Given the description of an element on the screen output the (x, y) to click on. 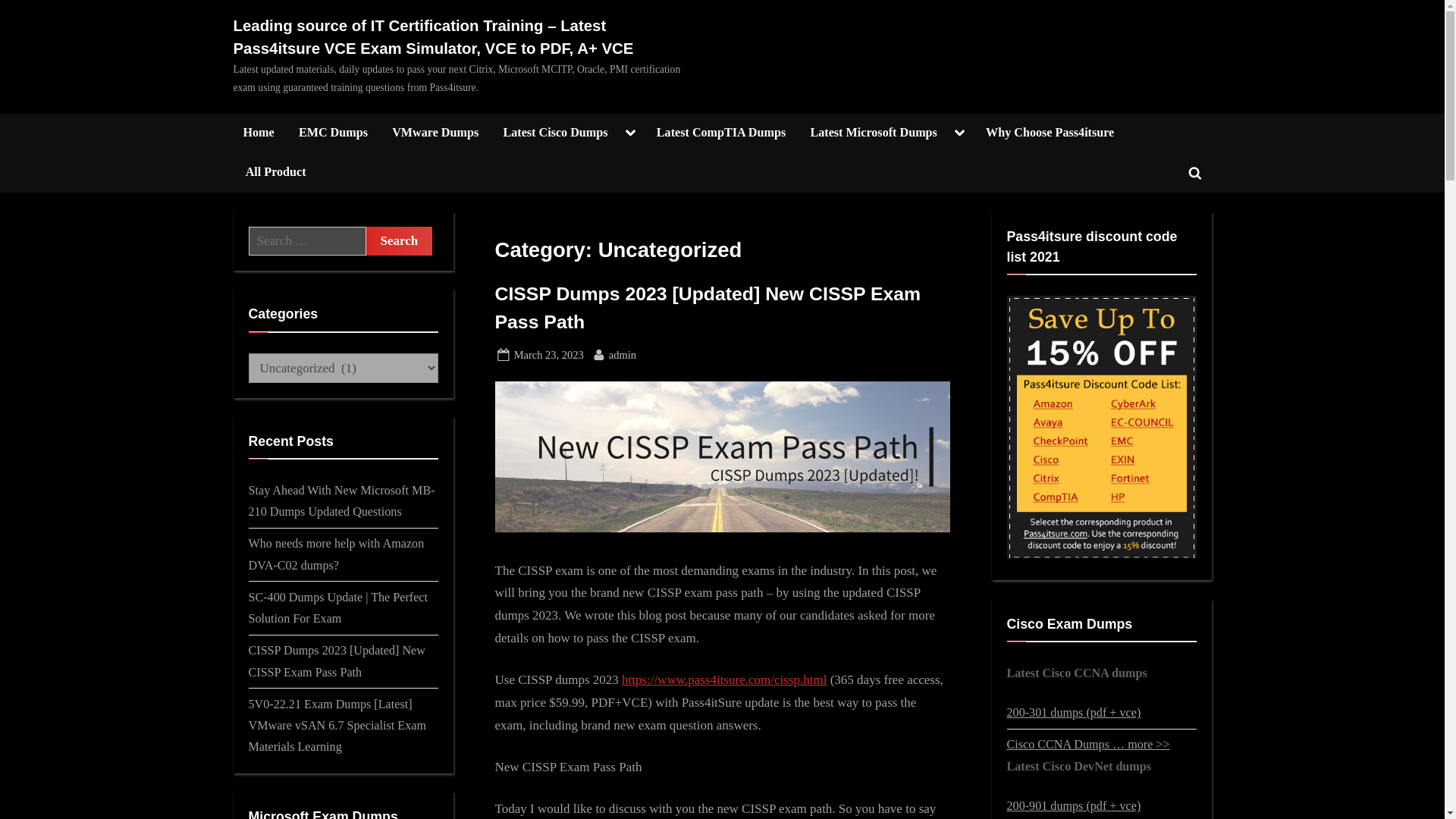
Latest Cisco Dumps (555, 133)
Home (257, 133)
EMC Dumps (332, 133)
Toggle sub-menu (960, 133)
Toggle sub-menu (622, 354)
Search (630, 133)
Toggle search form (398, 240)
Search (1194, 172)
All Product (398, 240)
